Given the description of an element on the screen output the (x, y) to click on. 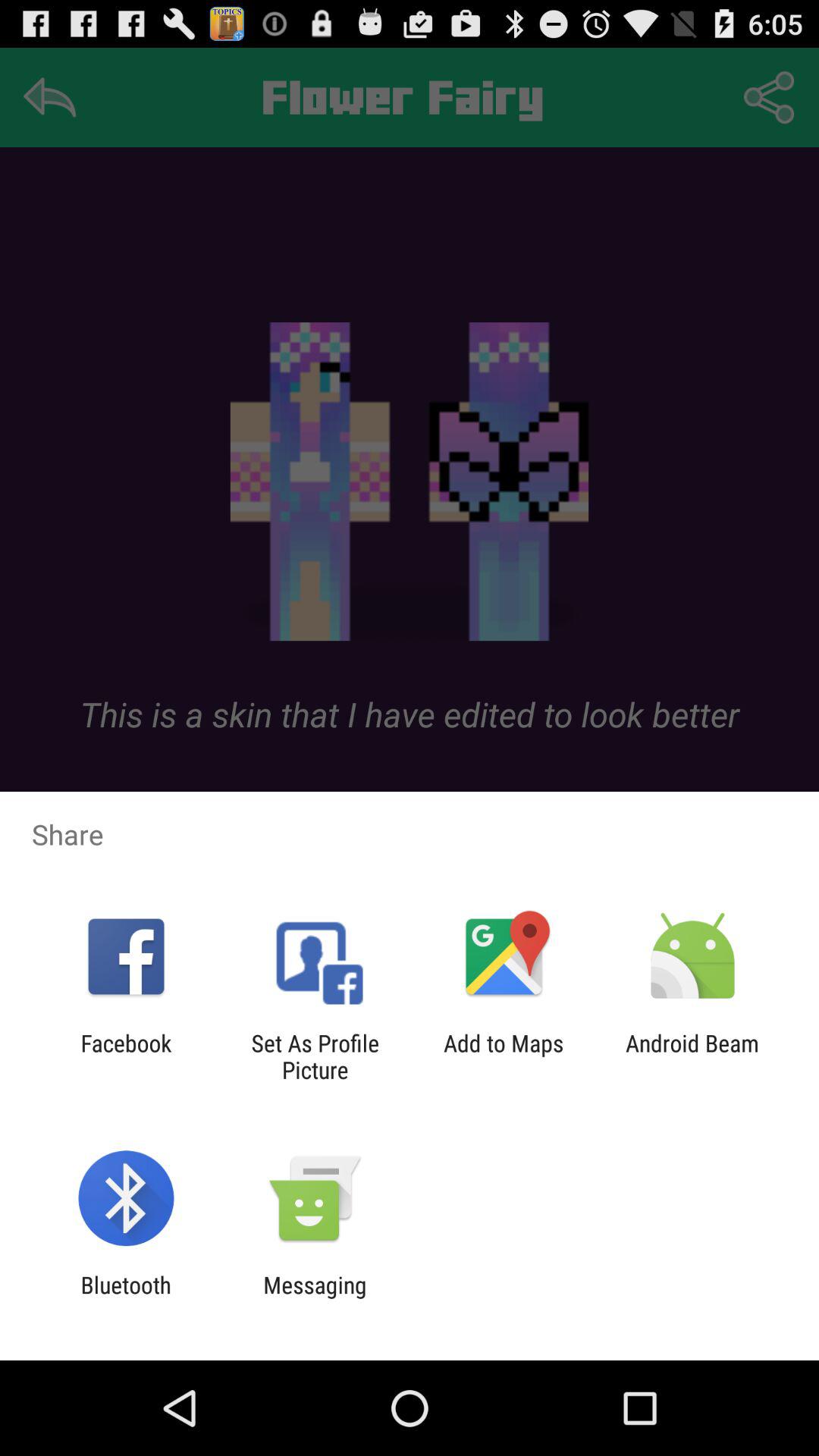
tap icon next to facebook icon (314, 1056)
